Given the description of an element on the screen output the (x, y) to click on. 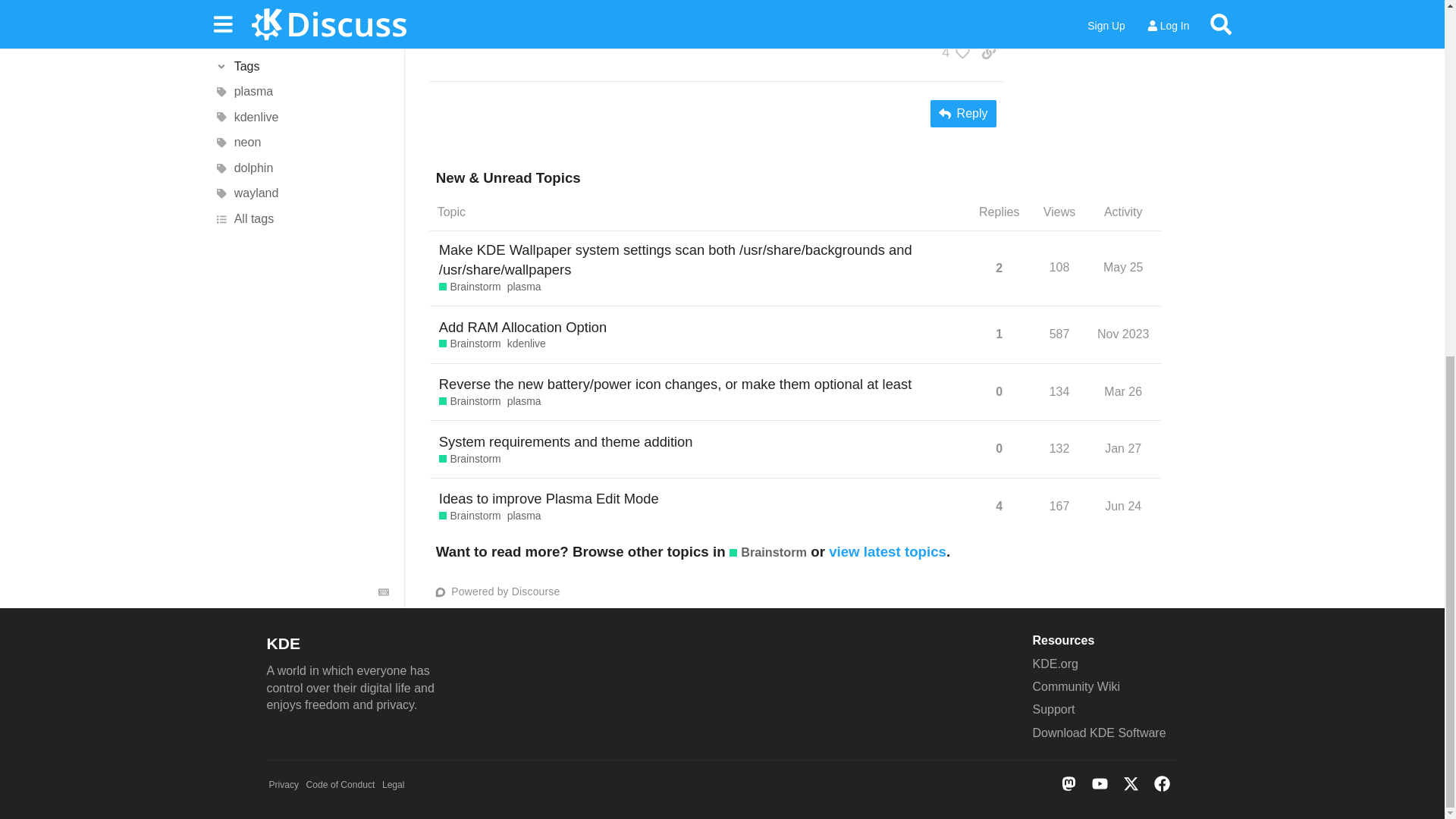
May 25 (1123, 267)
plasma (523, 287)
Add RAM Allocation Option (523, 326)
4 (951, 52)
Reply (962, 113)
Brainstorm (469, 287)
kdenlive (526, 344)
Keyboard Shortcuts (384, 177)
Brainstorm (469, 344)
